Given the description of an element on the screen output the (x, y) to click on. 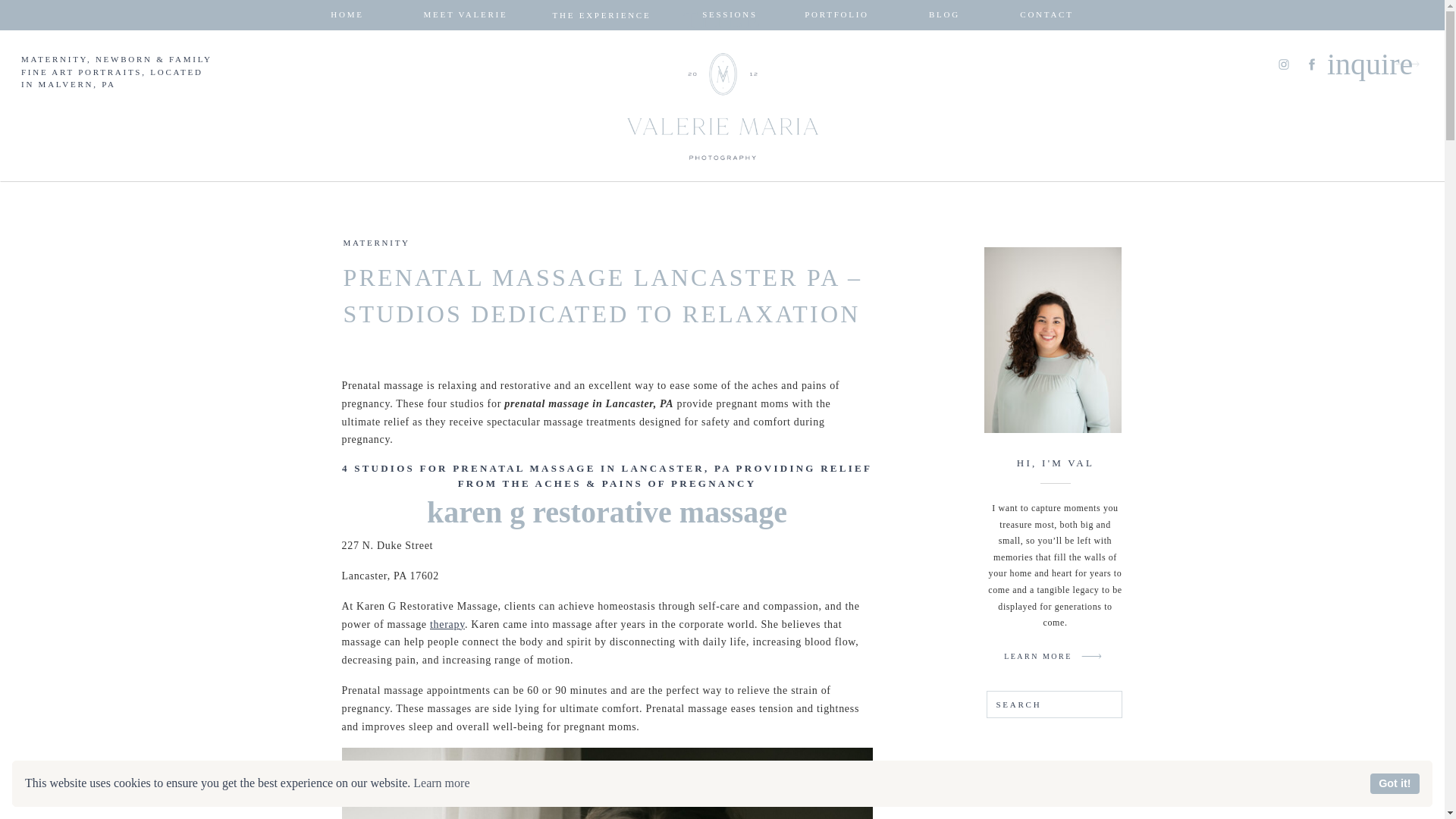
arrow (1091, 656)
MEET VALERIE (465, 15)
HOME (346, 15)
therapy (446, 624)
LEARN MORE (1037, 655)
SESSIONS (729, 15)
Got it! (1394, 783)
arrow (1091, 656)
arrow (1407, 63)
BLOG (943, 15)
